Given the description of an element on the screen output the (x, y) to click on. 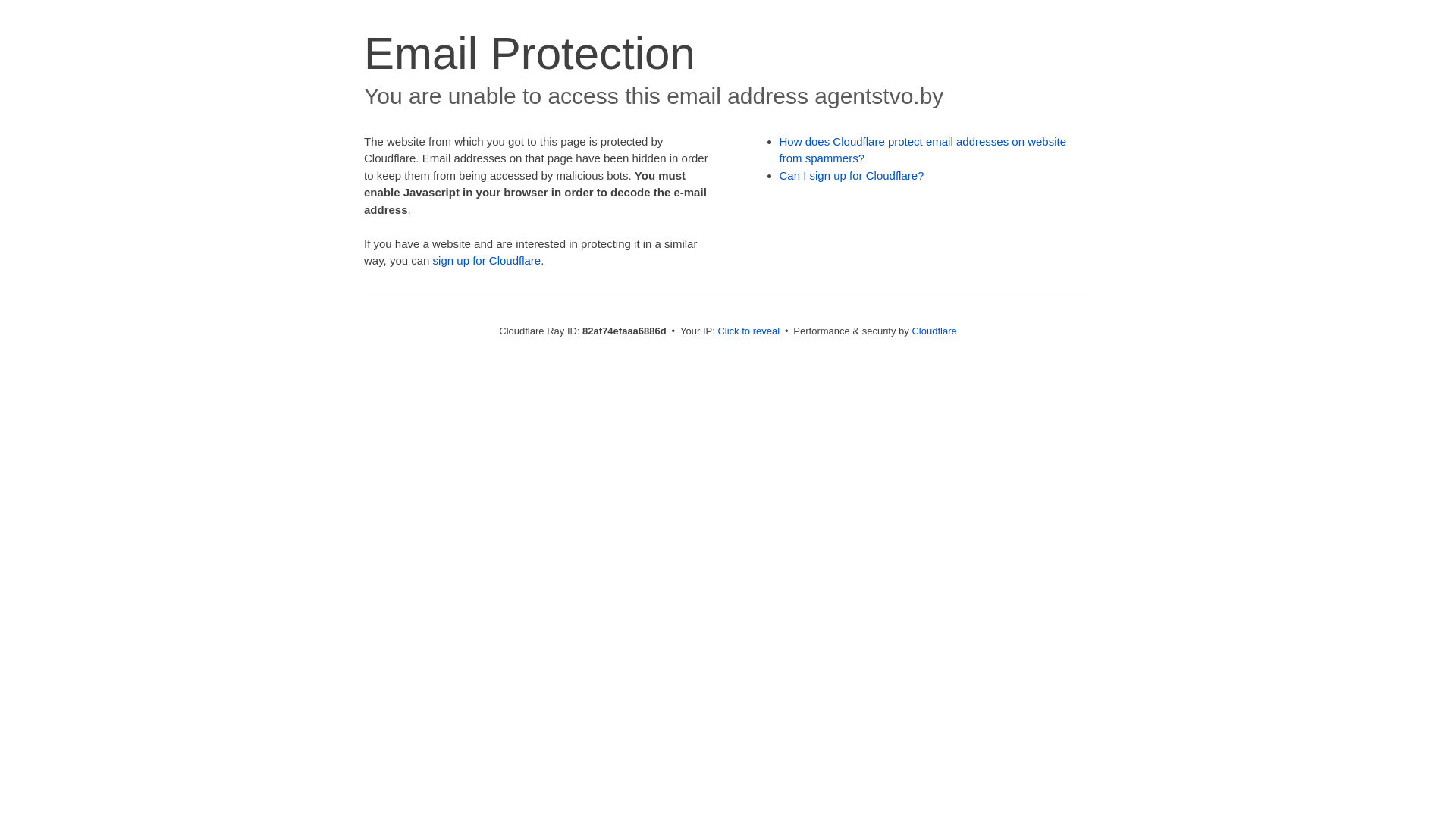
sign up for Cloudflare Element type: text (487, 260)
Can I sign up for Cloudflare? Element type: text (851, 175)
Click to reveal Element type: text (748, 330)
Cloudflare Element type: text (933, 330)
